Given the description of an element on the screen output the (x, y) to click on. 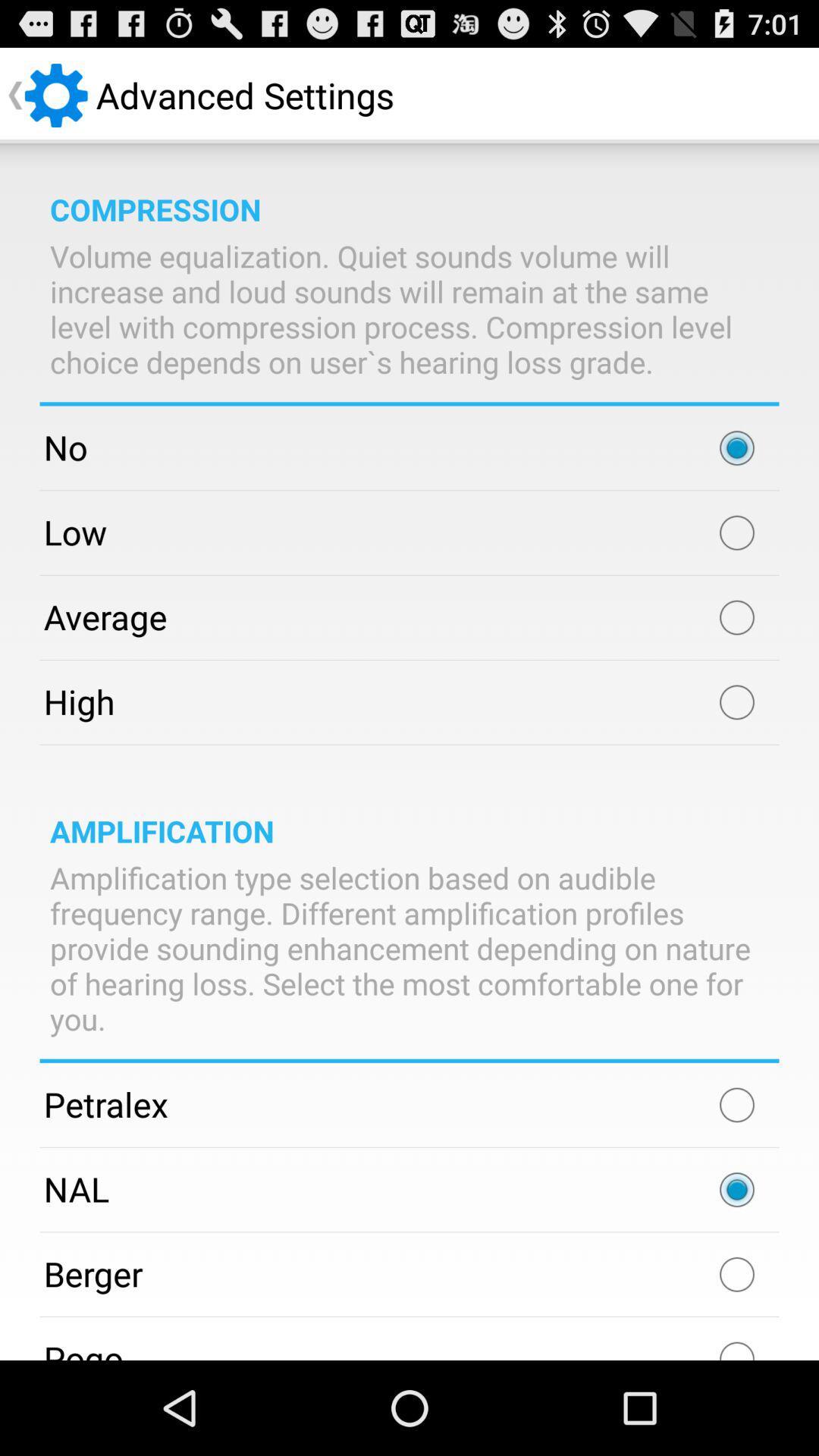
choose icon to the right of the nal item (736, 1189)
